Given the description of an element on the screen output the (x, y) to click on. 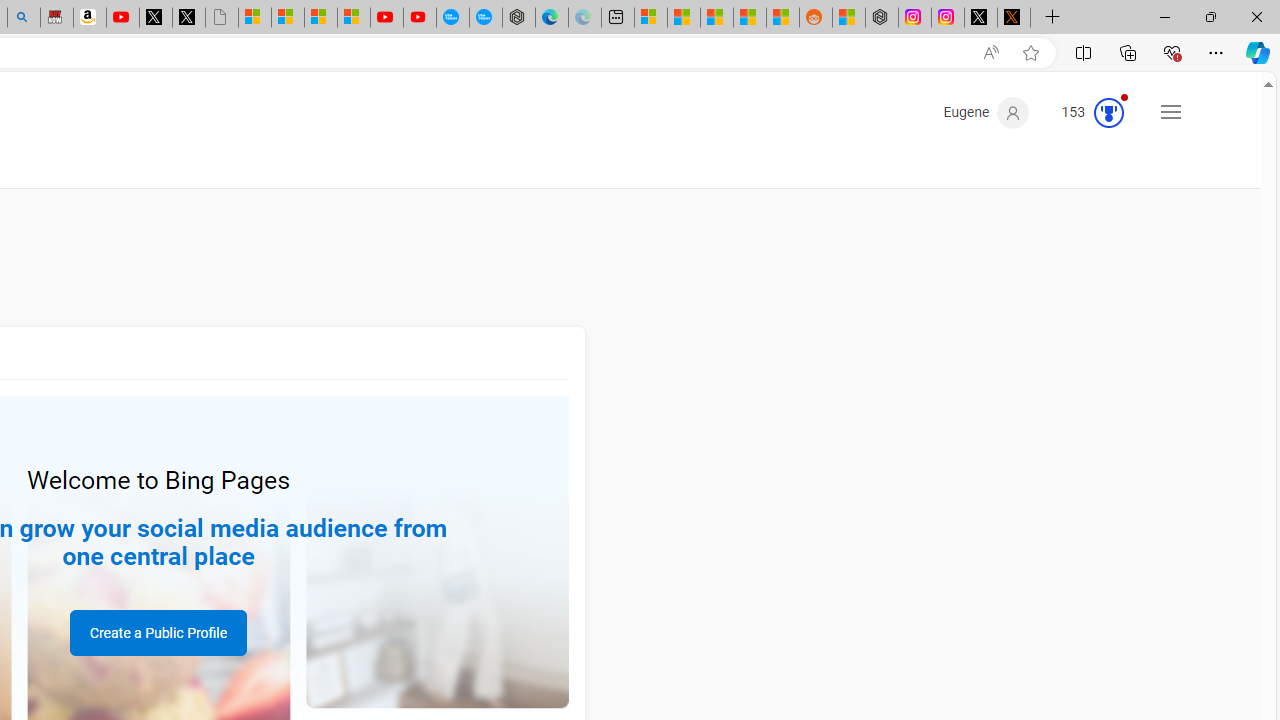
Shanghai, China Weather trends | Microsoft Weather (782, 17)
Nordace - Nordace has arrived Hong Kong (519, 17)
Untitled (222, 17)
Shanghai, China hourly forecast | Microsoft Weather (717, 17)
